Given the description of an element on the screen output the (x, y) to click on. 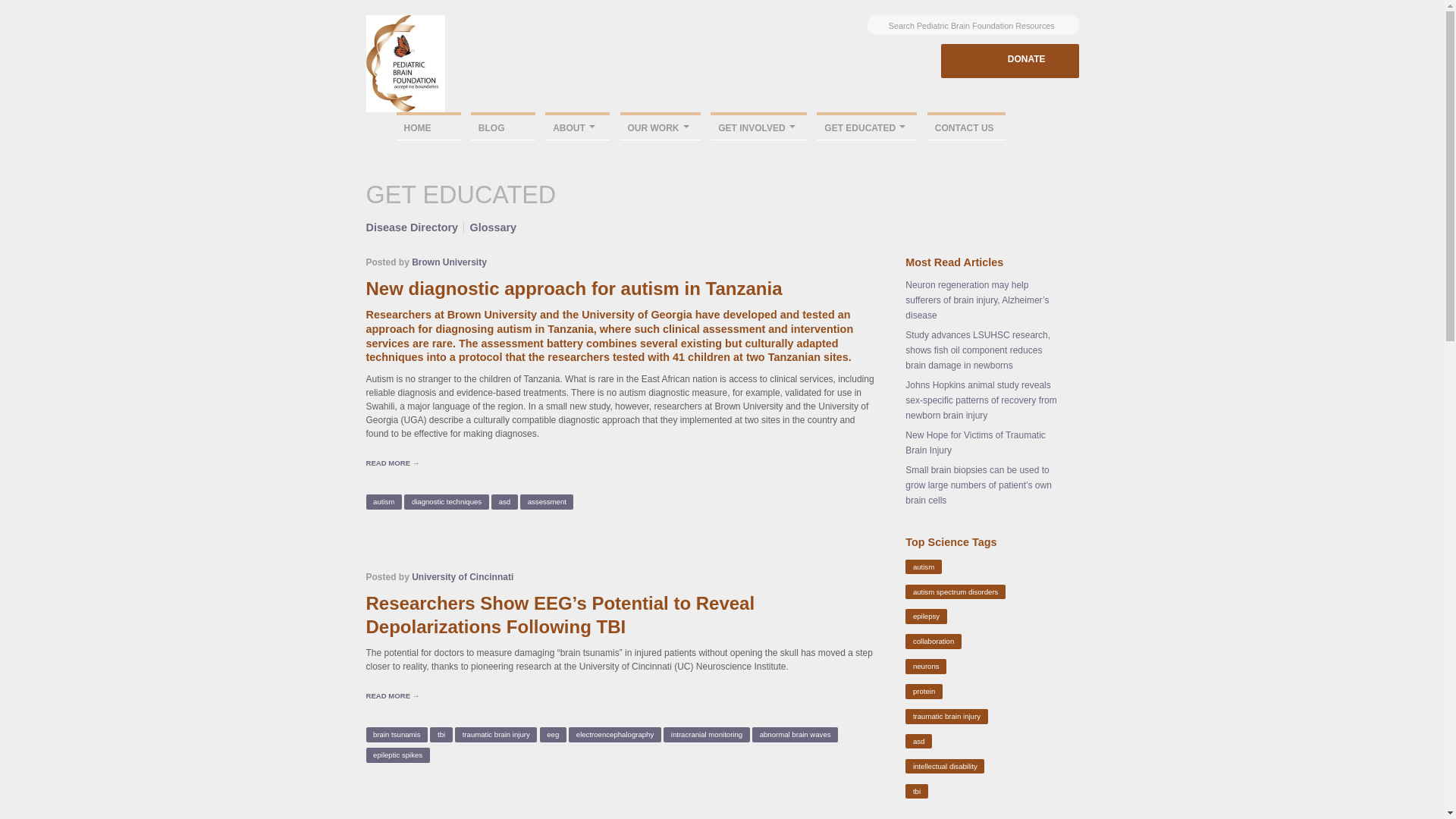
GET INVOLVED (758, 126)
HOME (428, 126)
Brown University (449, 262)
DONATE (1009, 60)
CONTACT US (966, 126)
ABOUT (577, 126)
GET EDUCATED (866, 126)
OUR WORK (660, 126)
Search (1093, 21)
DONATE (1026, 59)
